Given the description of an element on the screen output the (x, y) to click on. 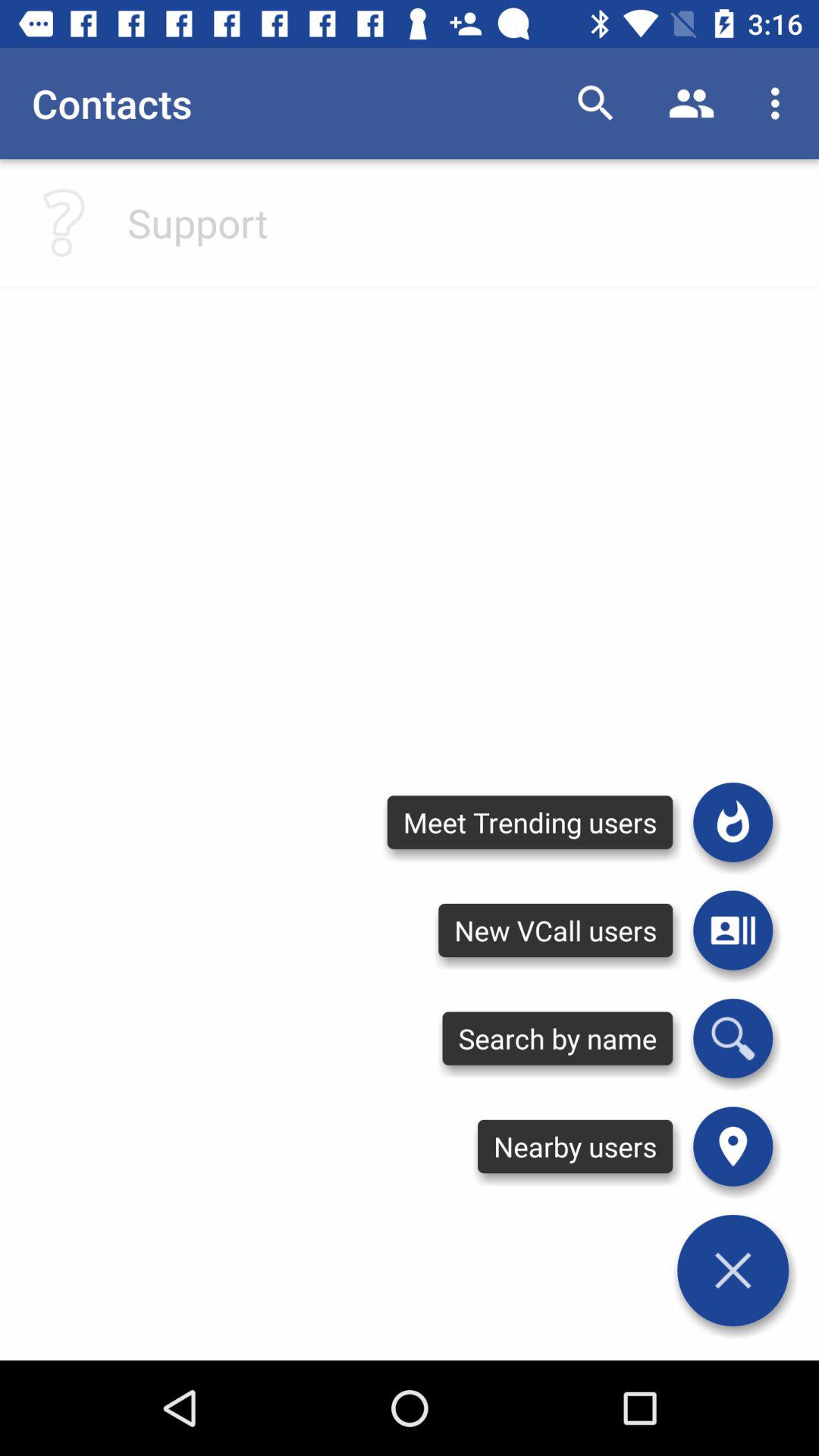
select icon to the right of search by name (733, 1146)
